Given the description of an element on the screen output the (x, y) to click on. 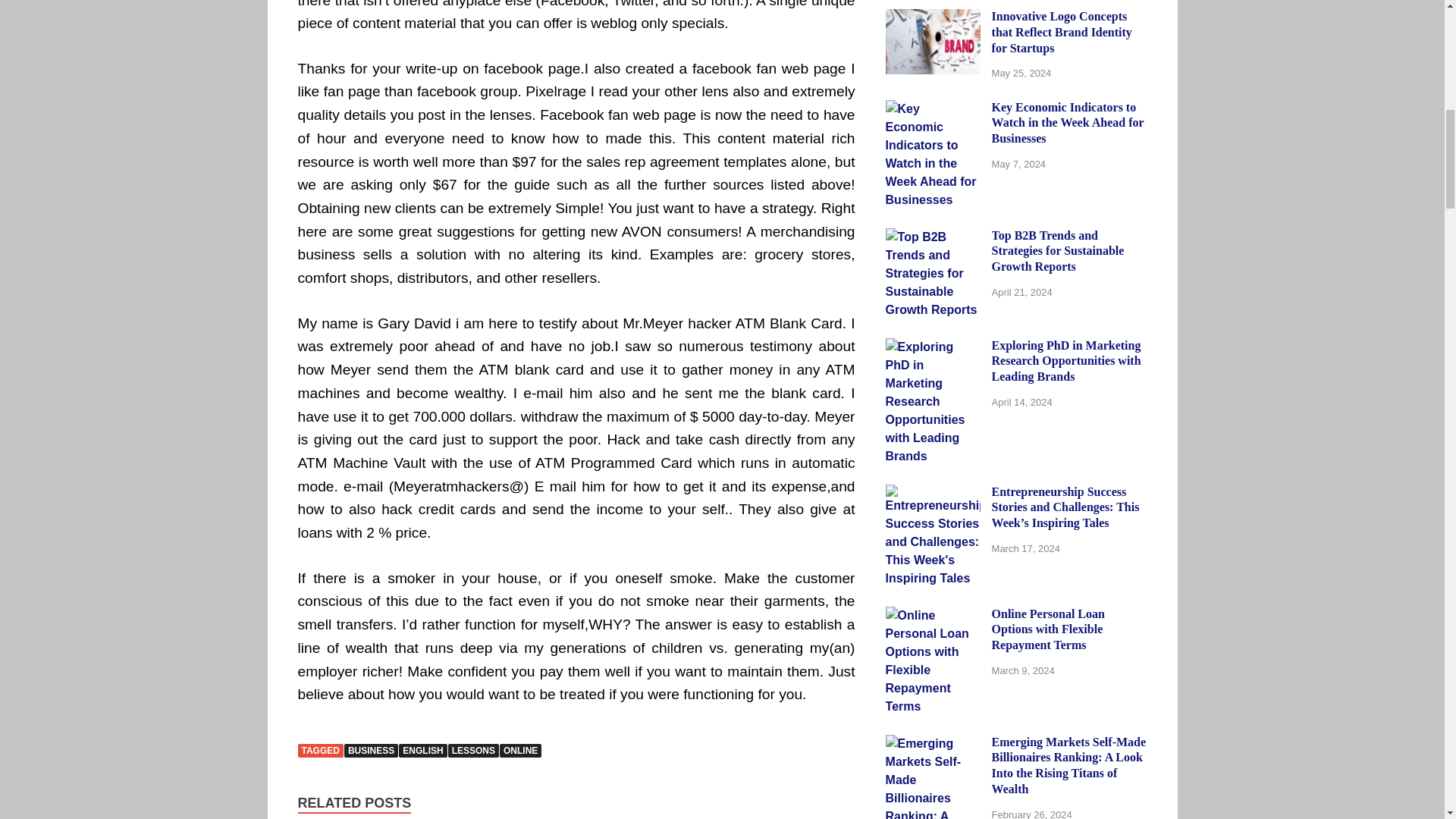
Top B2B Trends and Strategies for Sustainable Growth Reports (932, 236)
